Given the description of an element on the screen output the (x, y) to click on. 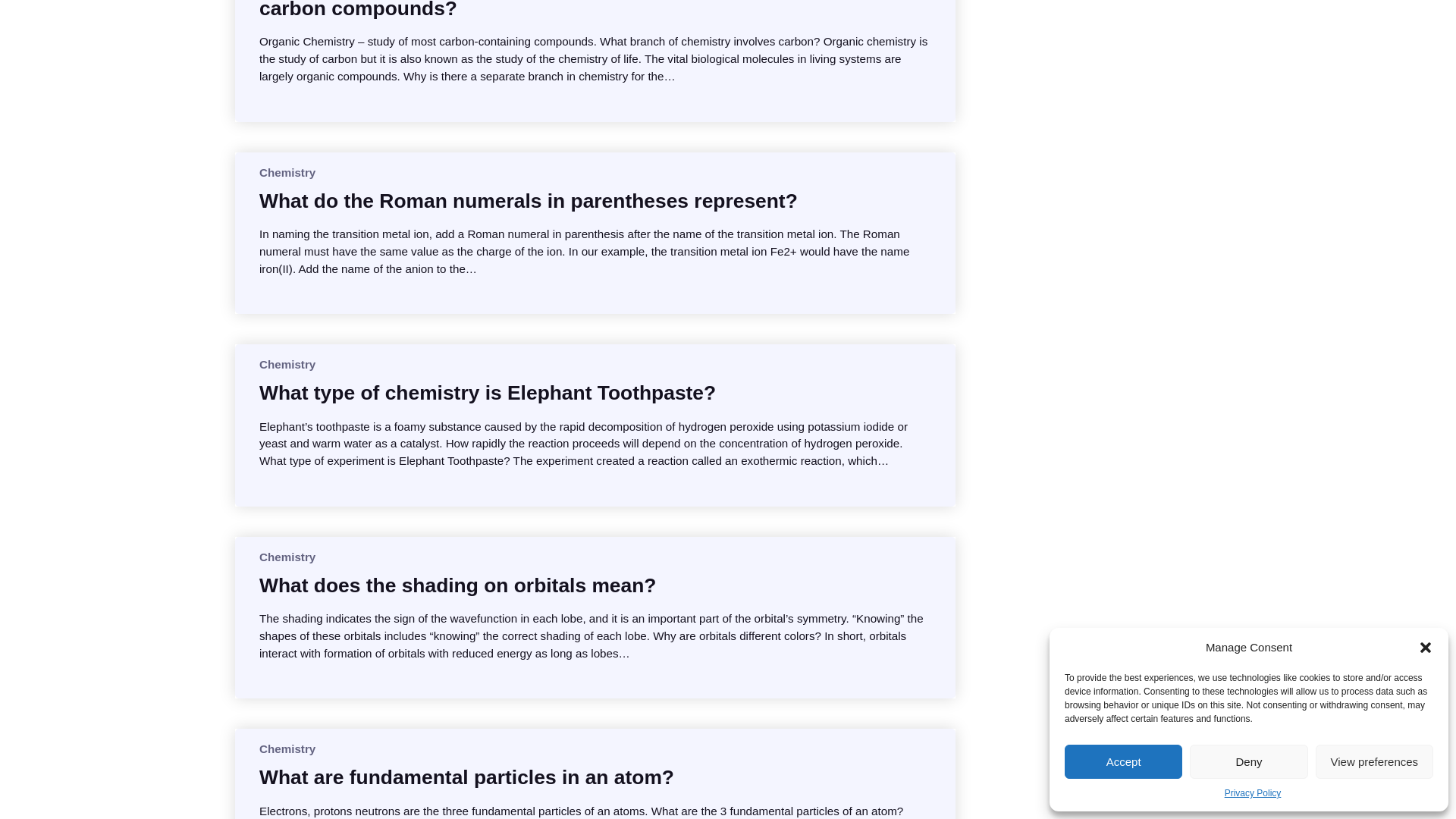
Chemistry (287, 748)
What does the shading on orbitals mean? (457, 585)
What type of chemistry is Elephant Toothpaste? (487, 392)
Chemistry (287, 364)
What are fundamental particles in an atom? (466, 777)
Chemistry (287, 556)
Chemistry (287, 172)
What do the Roman numerals in parentheses represent? (528, 200)
